Given the description of an element on the screen output the (x, y) to click on. 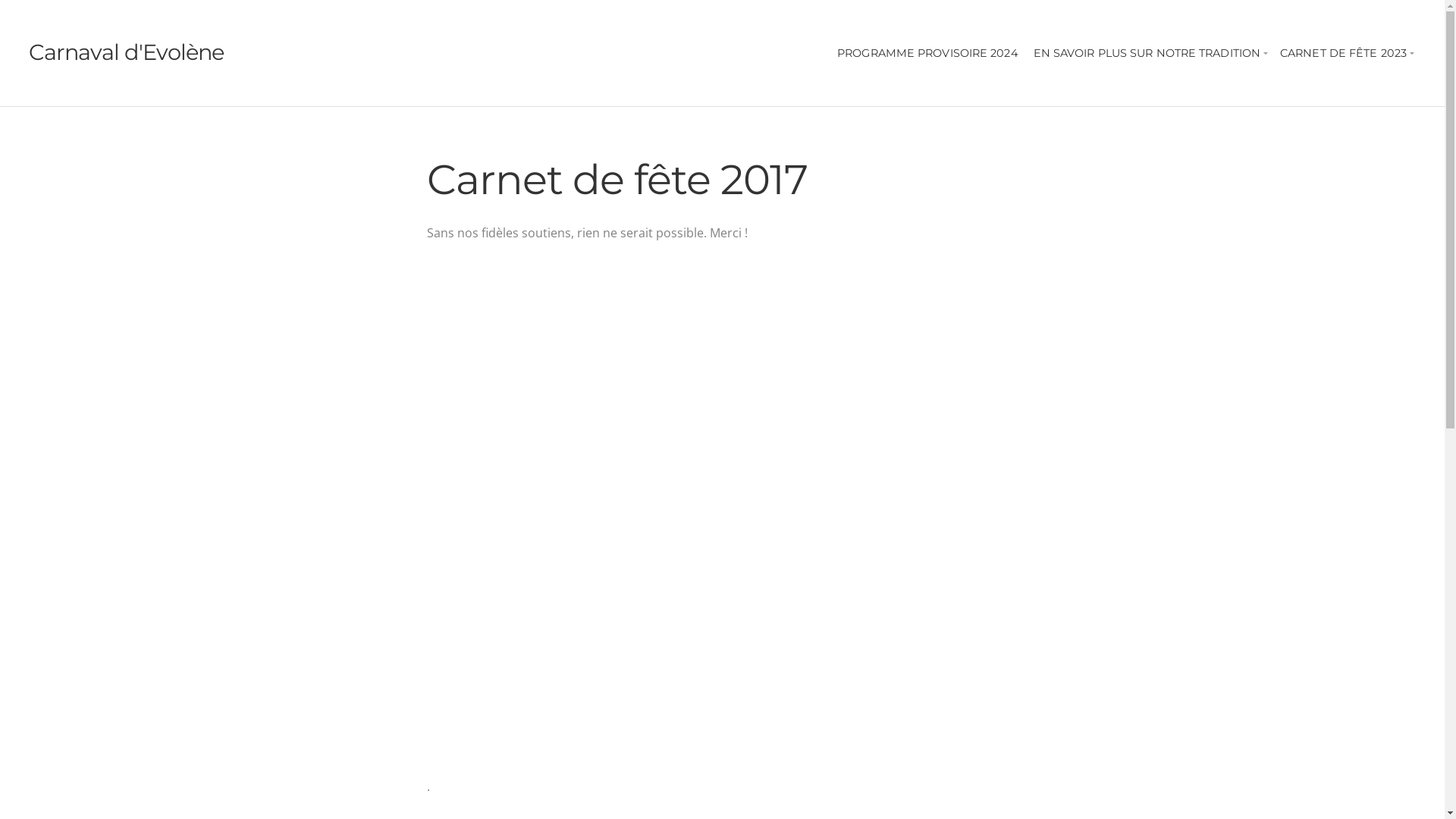
PROGRAMME PROVISOIRE 2024 Element type: text (927, 53)
EN SAVOIR PLUS SUR NOTRE TRADITION Element type: text (1148, 53)
